Given the description of an element on the screen output the (x, y) to click on. 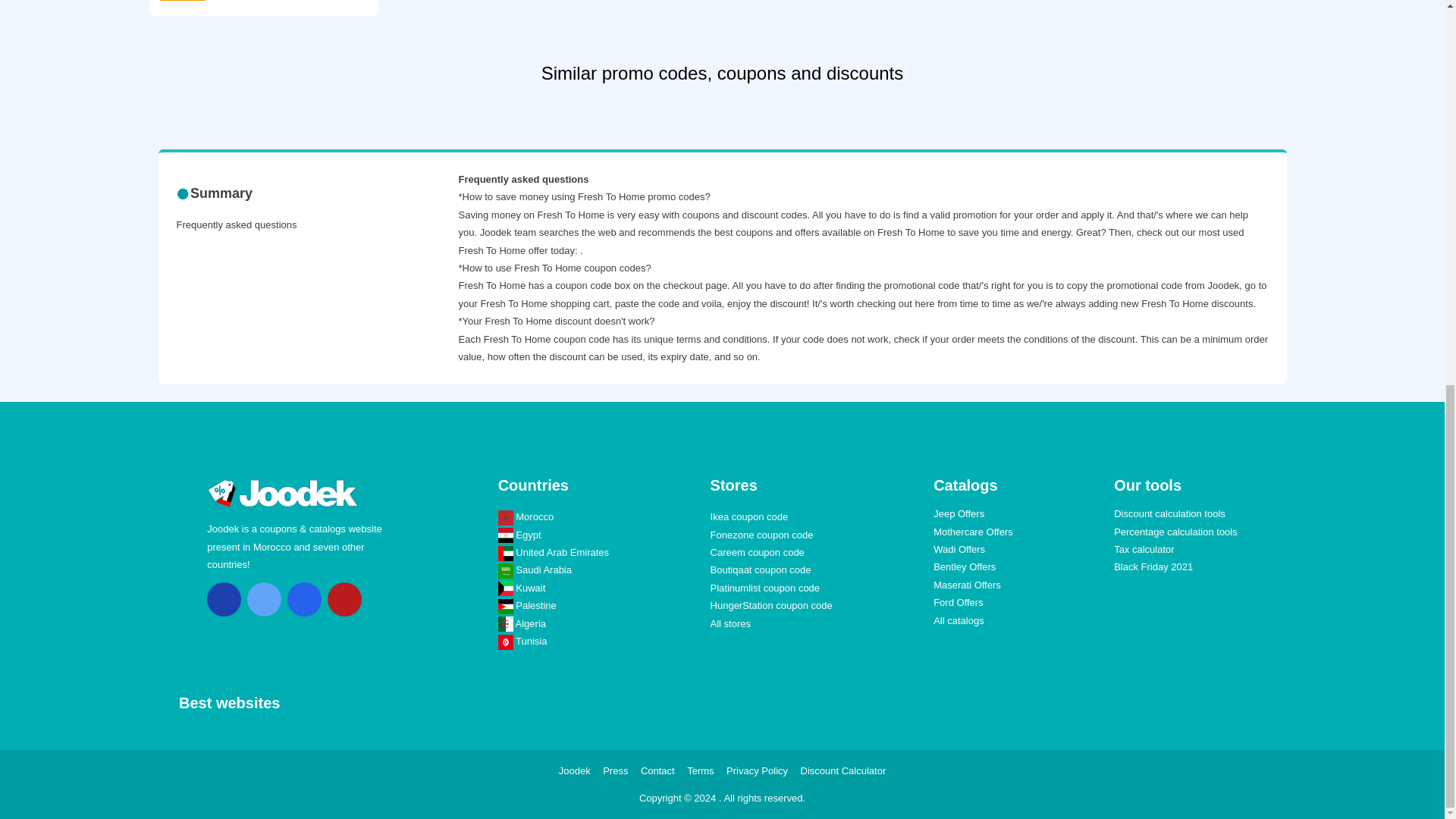
Palestine (526, 604)
Ikea coupon code (749, 516)
Frequently asked questions (236, 224)
Careem coupon code (757, 552)
Tunisia (522, 641)
Algeria (521, 623)
Kuwait (521, 587)
Saudi Arabia (534, 569)
Boutiqaat coupon code (760, 569)
Platinumlist coupon code (765, 587)
